Given the description of an element on the screen output the (x, y) to click on. 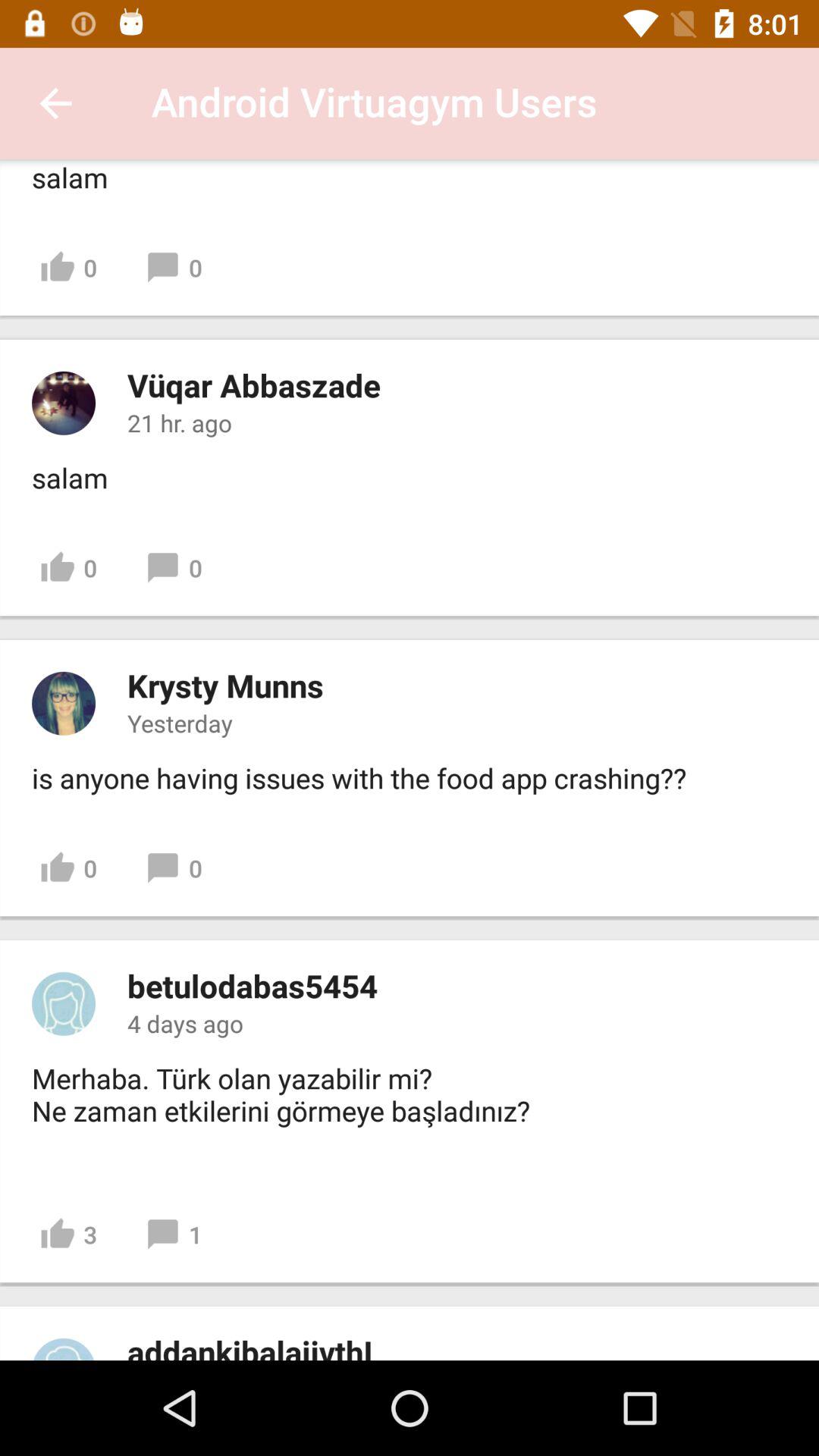
turn off the icon above yesterday icon (225, 684)
